Given the description of an element on the screen output the (x, y) to click on. 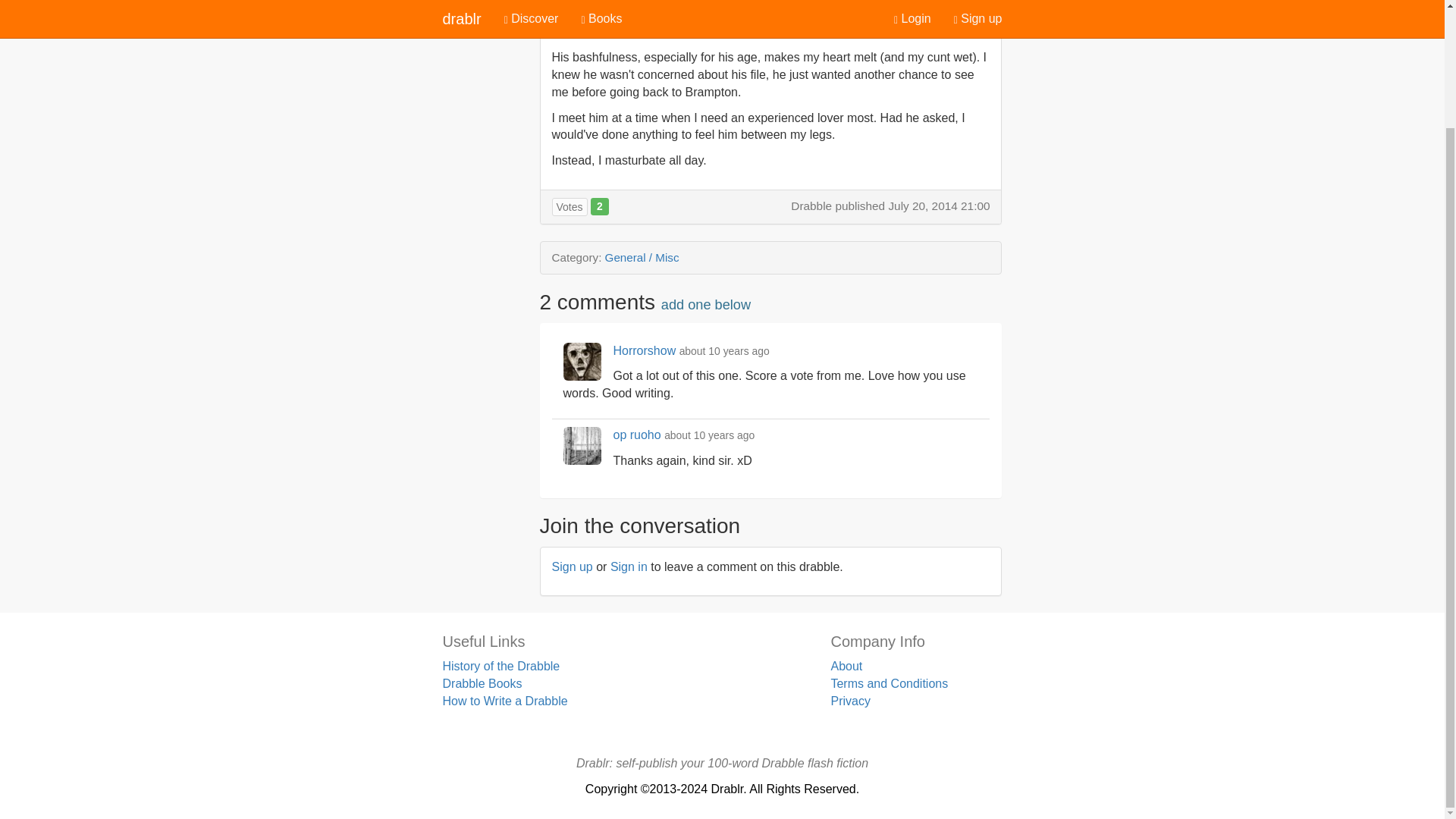
op ruoho (636, 434)
Drabble Books (482, 683)
How to Write a Drabble (504, 700)
Sign up (571, 566)
add one below (706, 304)
Privacy (849, 700)
History of the Drabble (501, 666)
Sign in (628, 566)
Terms and Conditions (888, 683)
About (845, 666)
